Given the description of an element on the screen output the (x, y) to click on. 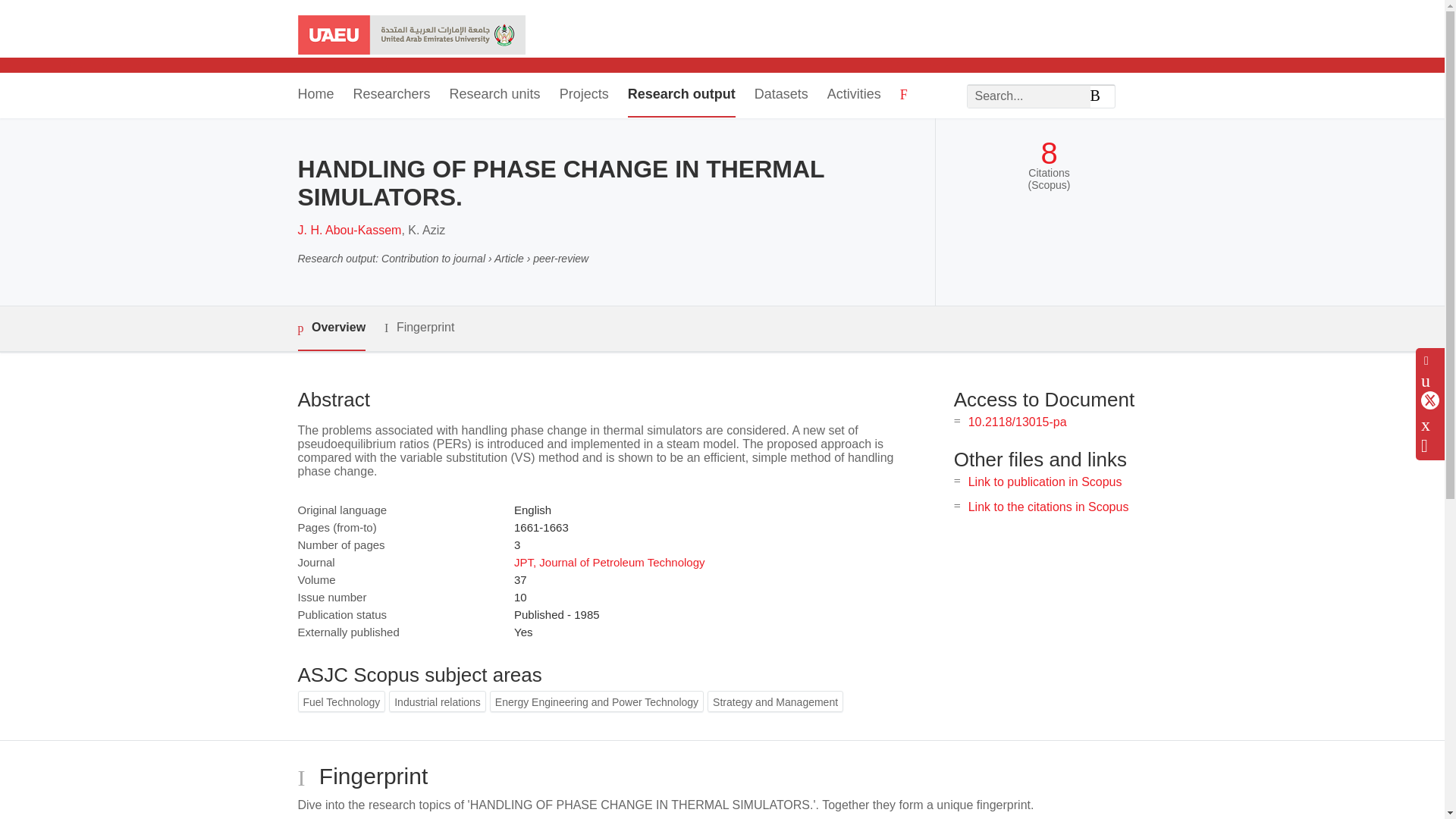
Activities (853, 94)
J. H. Abou-Kassem (349, 229)
JPT, Journal of Petroleum Technology (608, 562)
Overview (331, 328)
Datasets (781, 94)
Projects (583, 94)
Research units (494, 94)
Fingerprint (419, 327)
United Arab Emirates University Home (410, 36)
Researchers (391, 94)
